Given the description of an element on the screen output the (x, y) to click on. 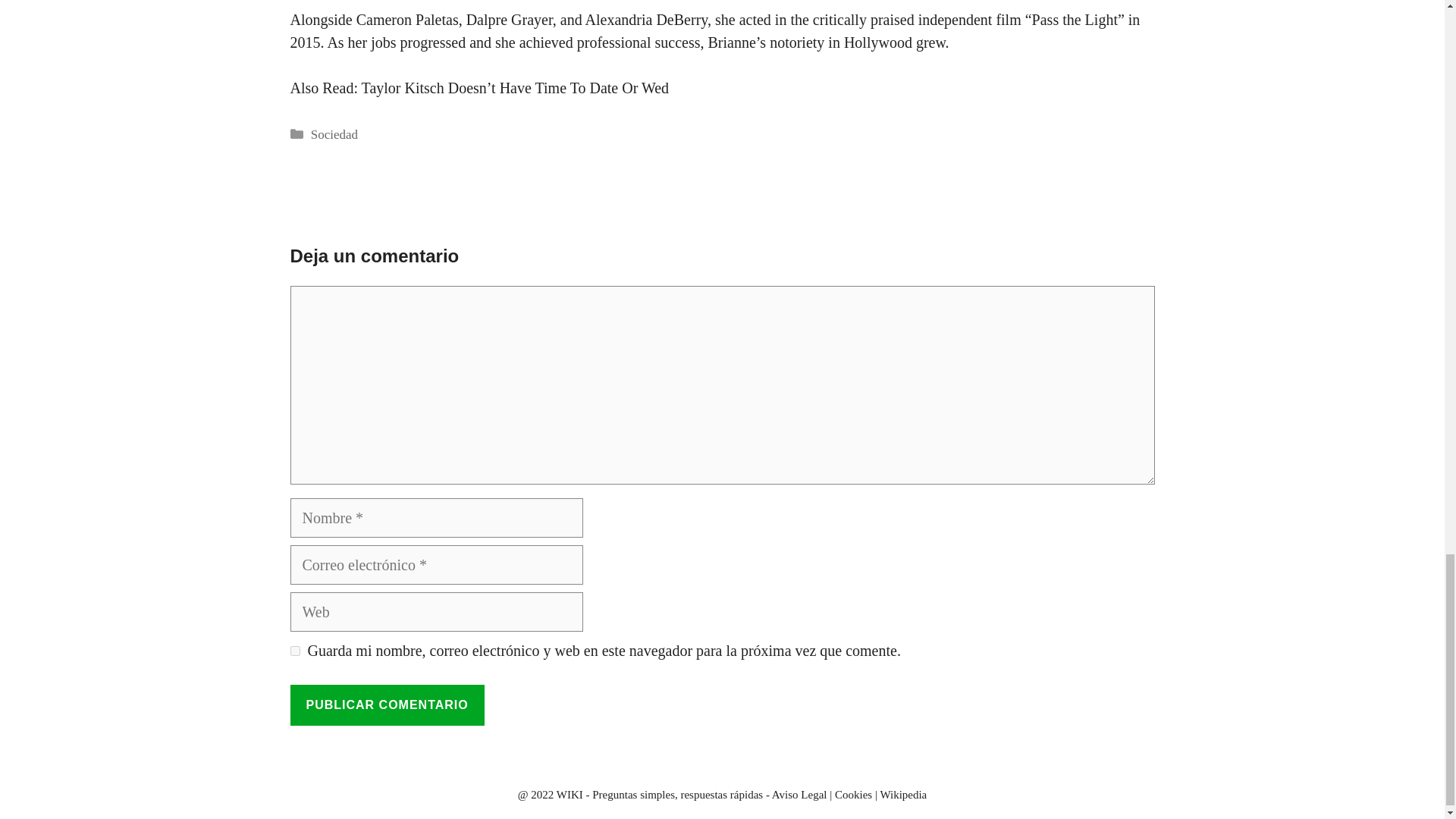
yes (294, 651)
Aviso Legal (799, 794)
Cookies (853, 794)
Wikipedia (902, 794)
Sociedad (334, 134)
Publicar comentario (386, 704)
Publicar comentario (386, 704)
